Given the description of an element on the screen output the (x, y) to click on. 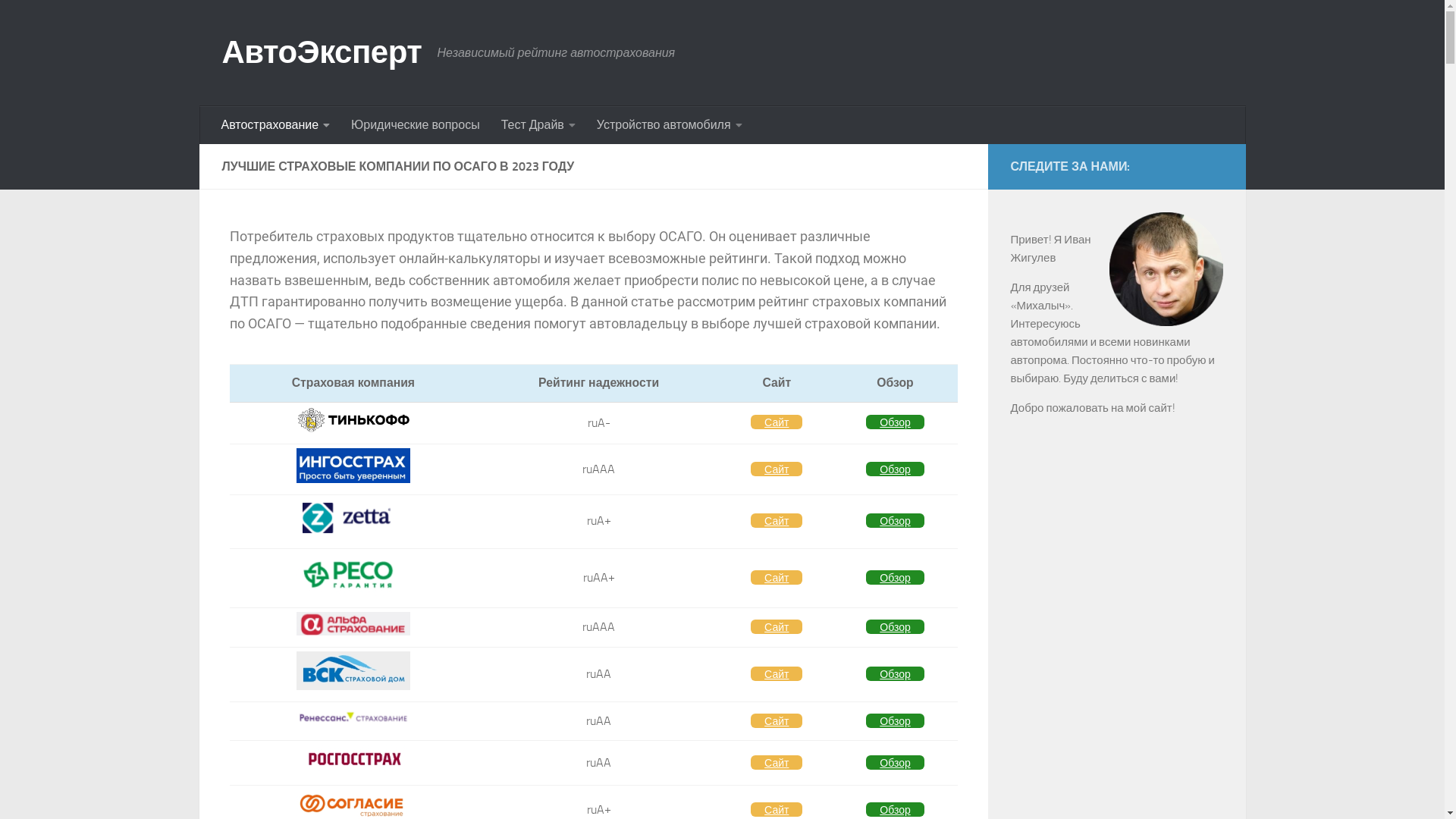
Skip to content Element type: text (60, 21)
